Given the description of an element on the screen output the (x, y) to click on. 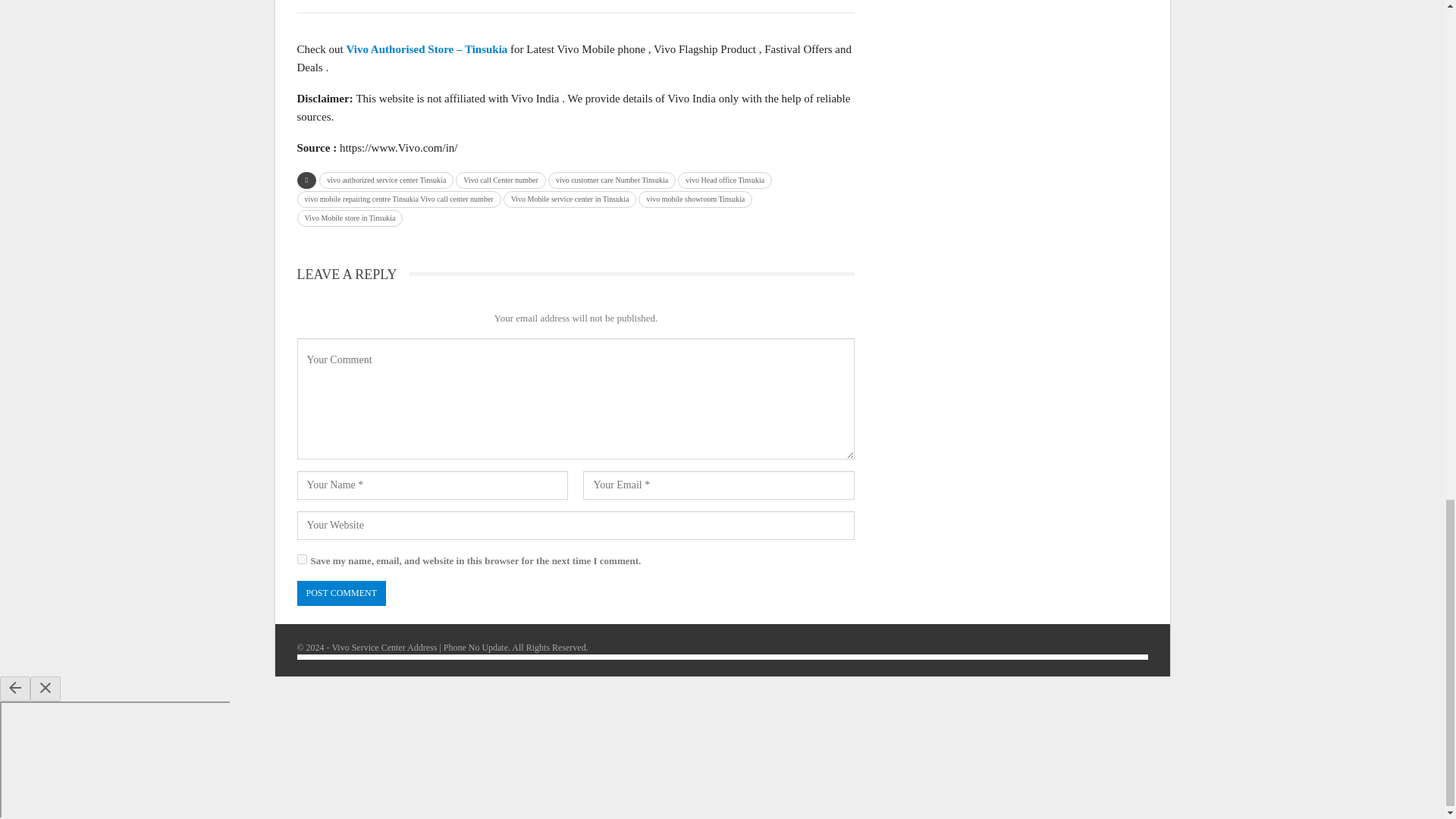
yes (302, 559)
Post Comment (341, 593)
